Given the description of an element on the screen output the (x, y) to click on. 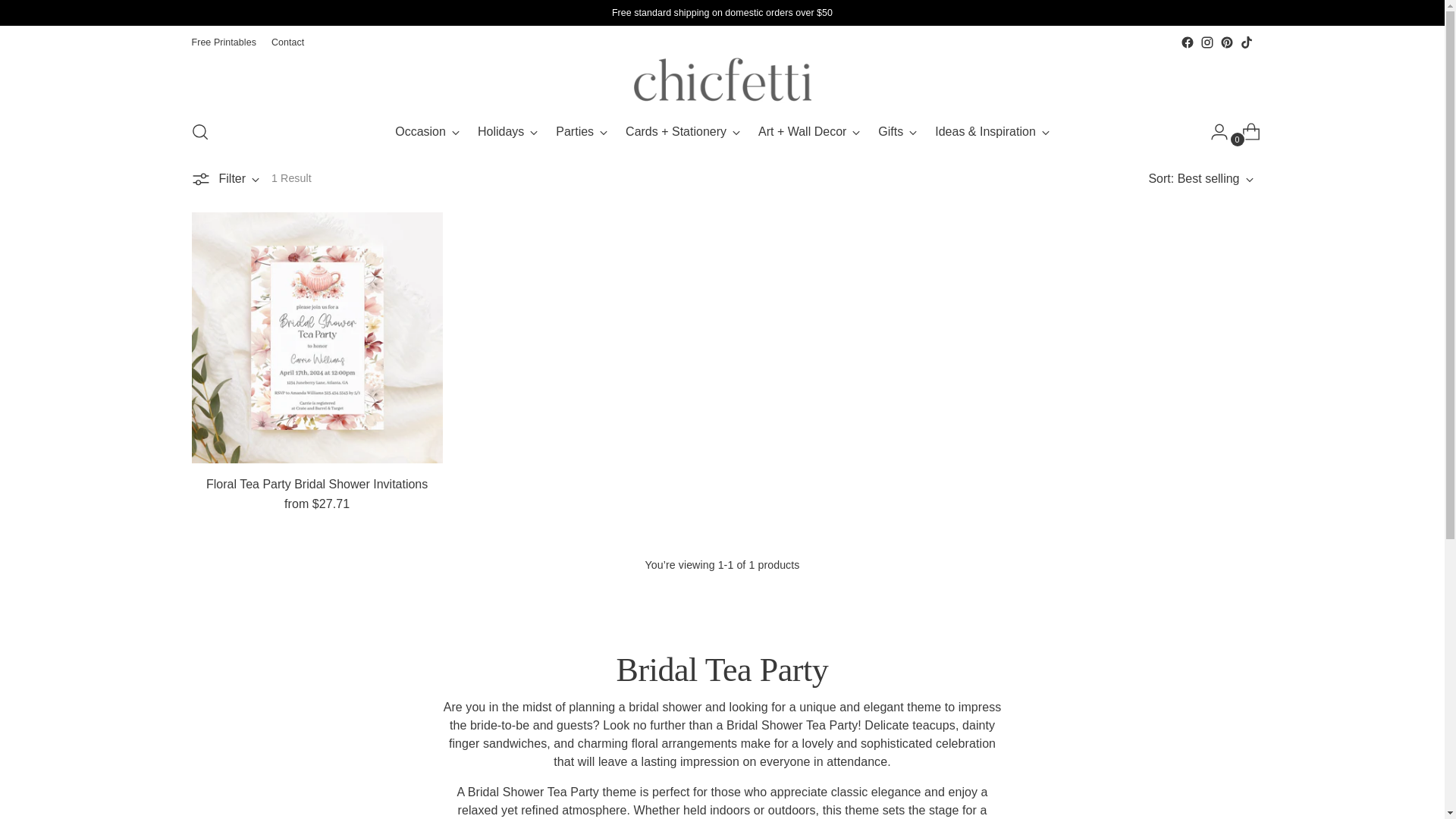
Free Printables (223, 41)
Chicfetti on Instagram (1205, 42)
Chicfetti on Pinterest (1226, 42)
Chicfetti on Facebook (1186, 42)
Parties (581, 131)
Holidays (507, 131)
Occasion (427, 131)
Chicfetti on Tiktok (1245, 42)
Contact (287, 41)
